Given the description of an element on the screen output the (x, y) to click on. 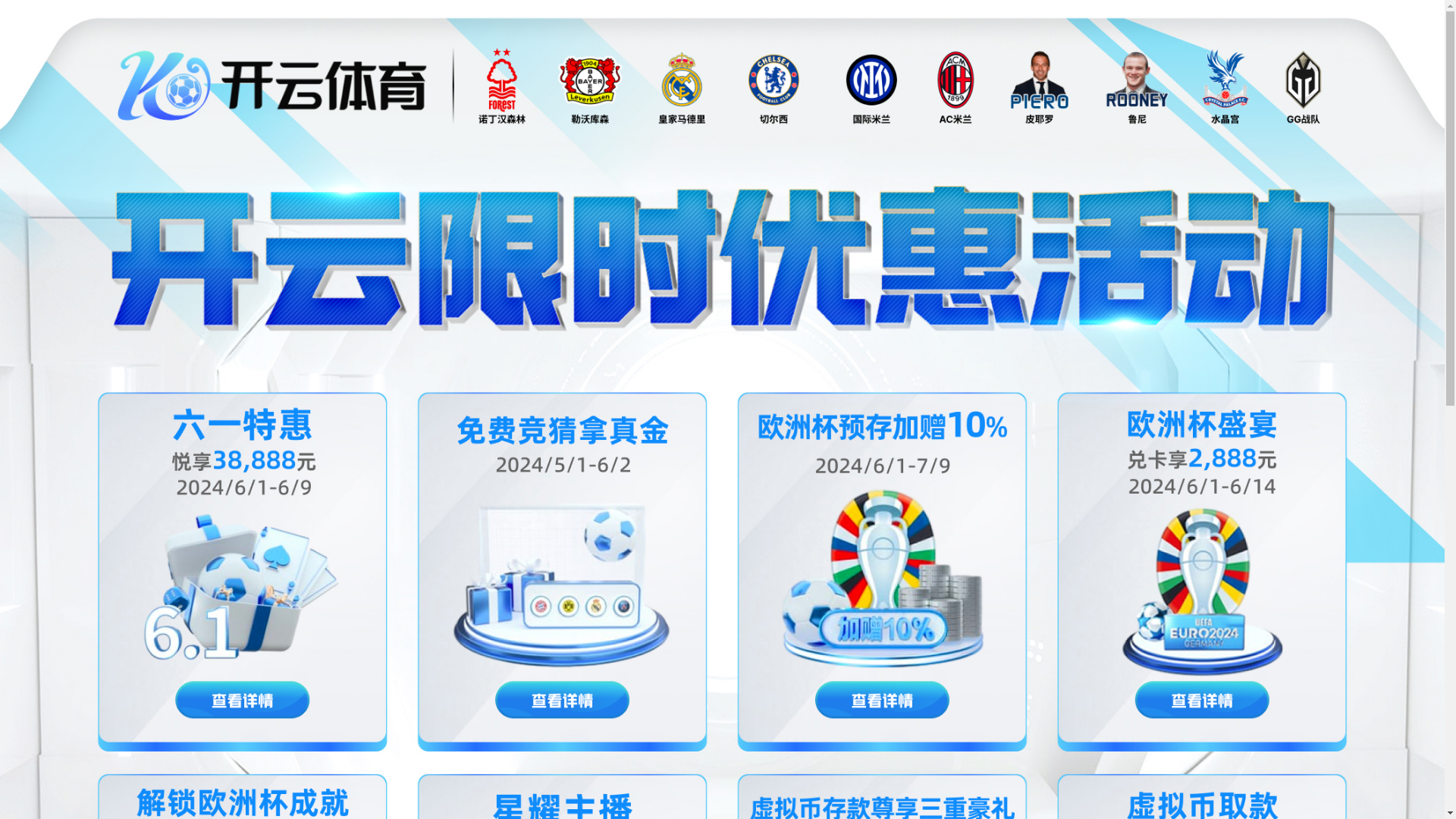
sougou (836, 507)
sougou (836, 507)
map (727, 533)
360 (836, 471)
360 (836, 471)
baidu (856, 436)
baidu (856, 436)
